Given the description of an element on the screen output the (x, y) to click on. 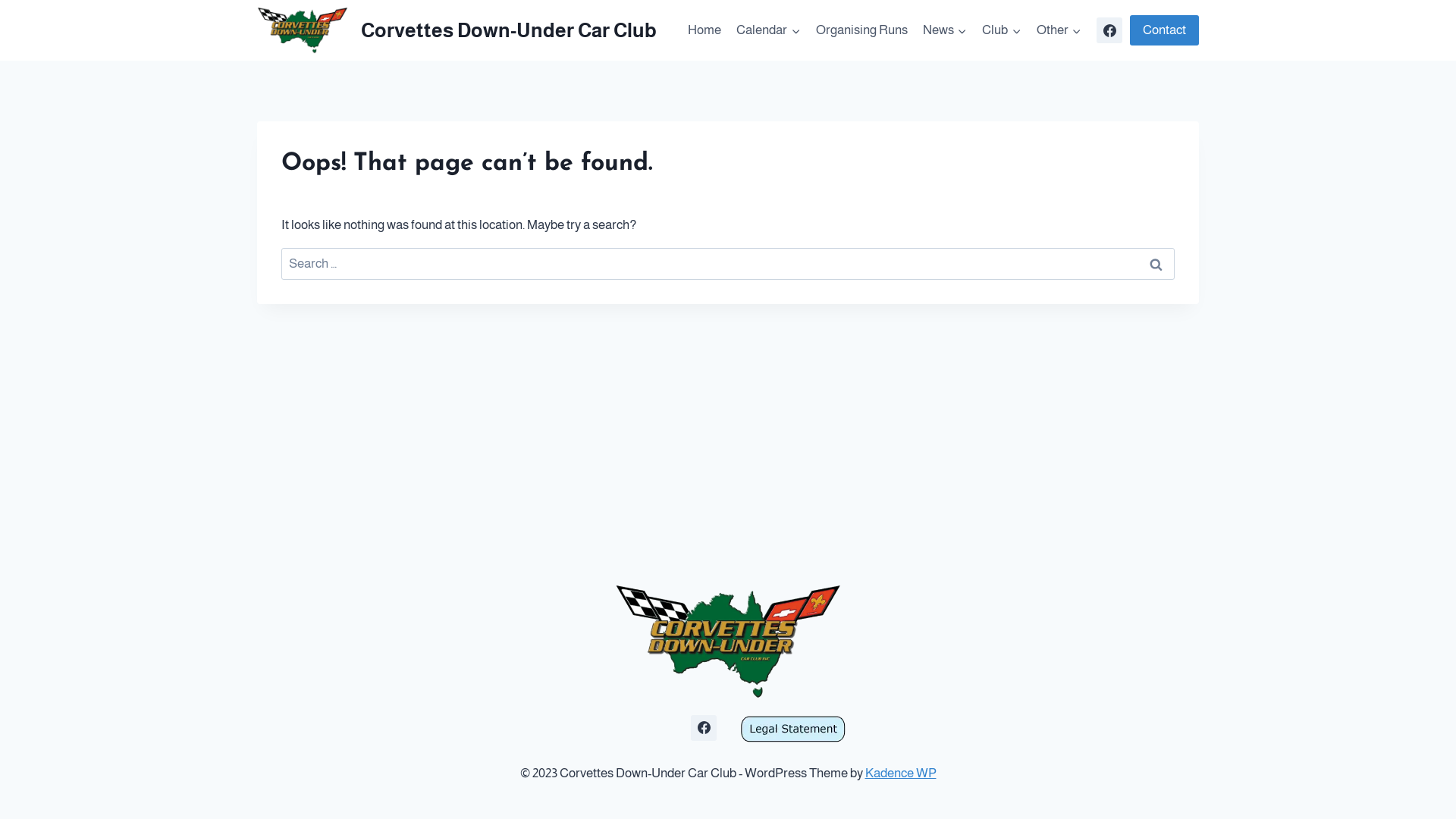
News Element type: text (944, 30)
Corvettes Down-Under Car Club Element type: text (456, 29)
Calendar Element type: text (767, 30)
Other Element type: text (1058, 30)
Contact Element type: text (1163, 30)
Organising Runs Element type: text (861, 30)
Home Element type: text (704, 30)
Search Element type: text (1155, 263)
Kadence WP Element type: text (899, 772)
Club Element type: text (1001, 30)
